Given the description of an element on the screen output the (x, y) to click on. 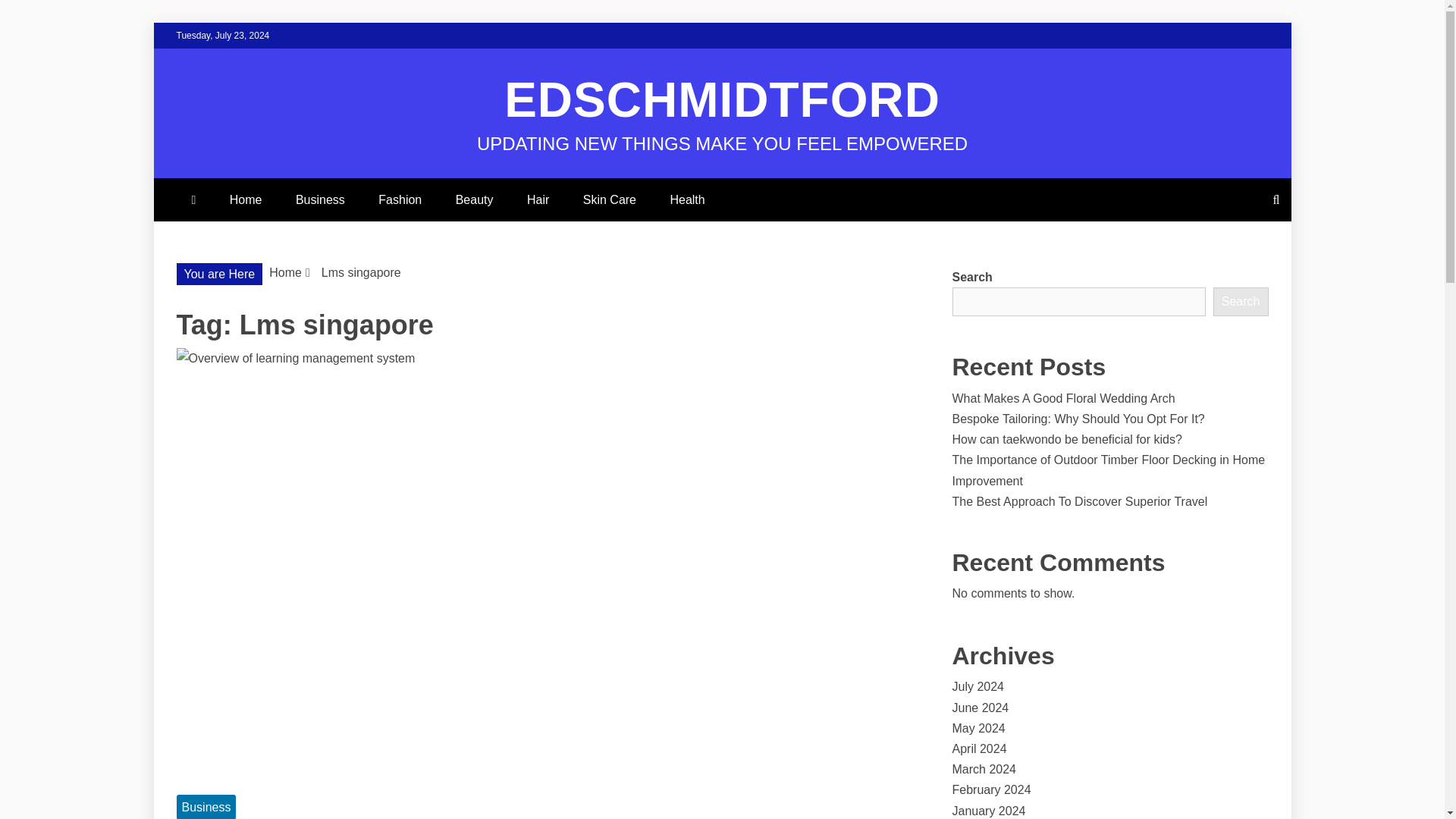
Hair (538, 199)
February 2024 (991, 789)
What Makes A Good Floral Wedding Arch (1063, 398)
How can taekwondo be beneficial for kids? (1067, 439)
Health (686, 199)
Search (1240, 301)
May 2024 (979, 727)
EDSCHMIDTFORD (721, 99)
Beauty (474, 199)
Bespoke Tailoring: Why Should You Opt For It? (1078, 418)
July 2024 (978, 686)
Fashion (399, 199)
April 2024 (979, 748)
